Given the description of an element on the screen output the (x, y) to click on. 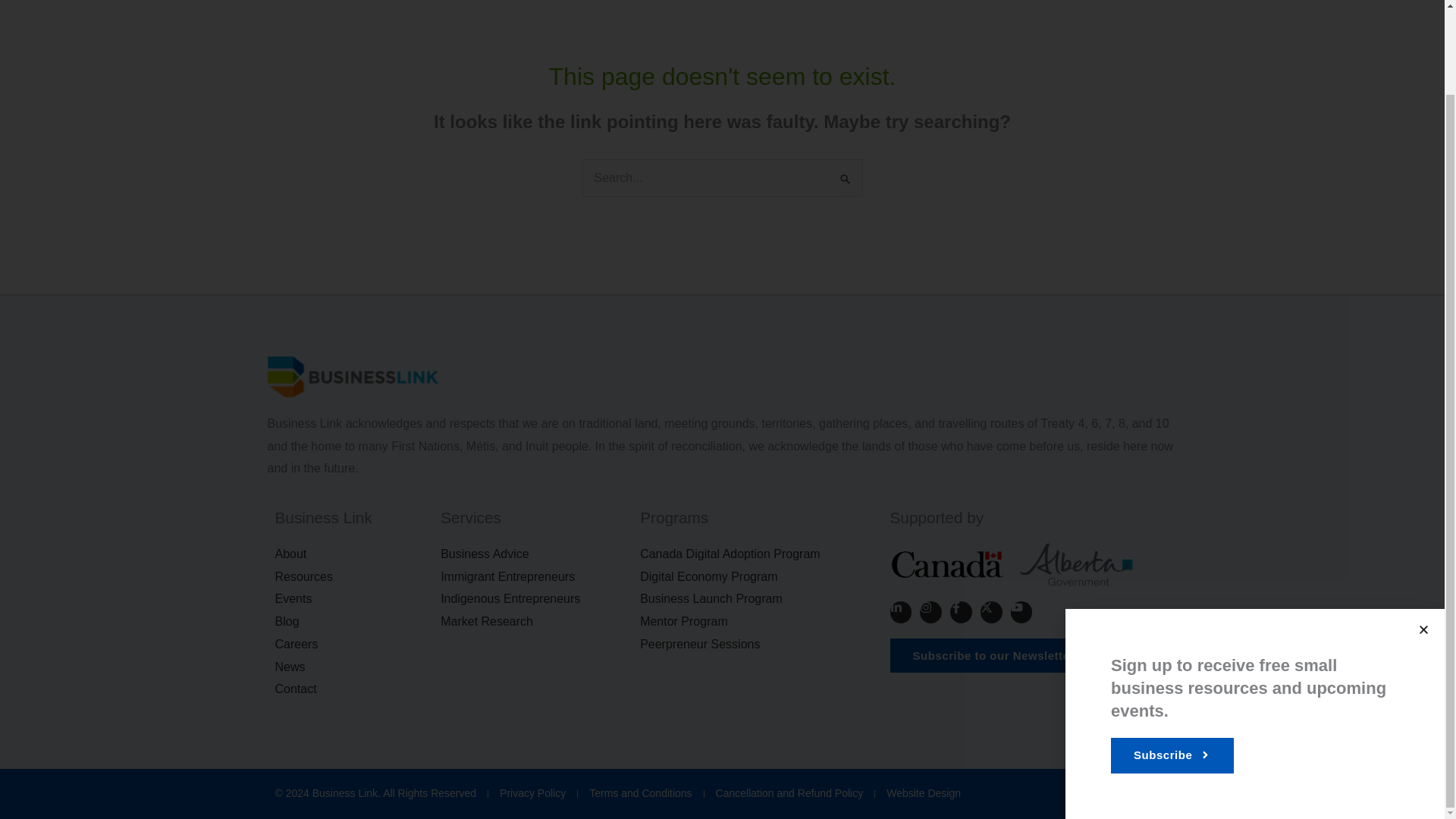
New Progress Pride Flag (1159, 793)
